Given the description of an element on the screen output the (x, y) to click on. 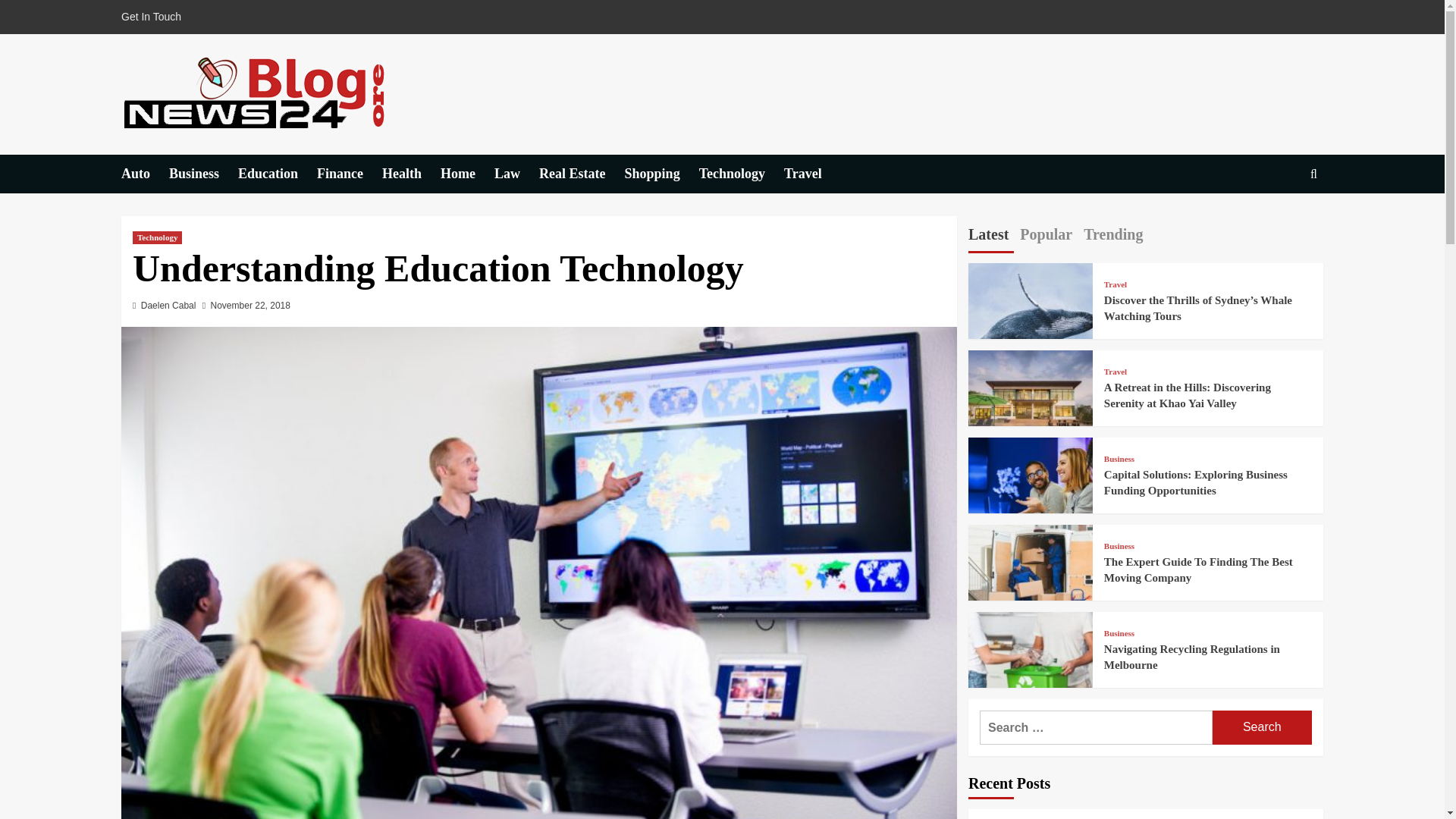
Auto (144, 173)
Daelen Cabal (168, 305)
Real Estate (581, 173)
Search (1261, 727)
Search (1278, 220)
Home (468, 173)
Business (203, 173)
Technology (157, 237)
Get In Touch (154, 17)
Law (516, 173)
Education (277, 173)
Technology (741, 173)
Search (1261, 727)
Health (411, 173)
November 22, 2018 (250, 305)
